Given the description of an element on the screen output the (x, y) to click on. 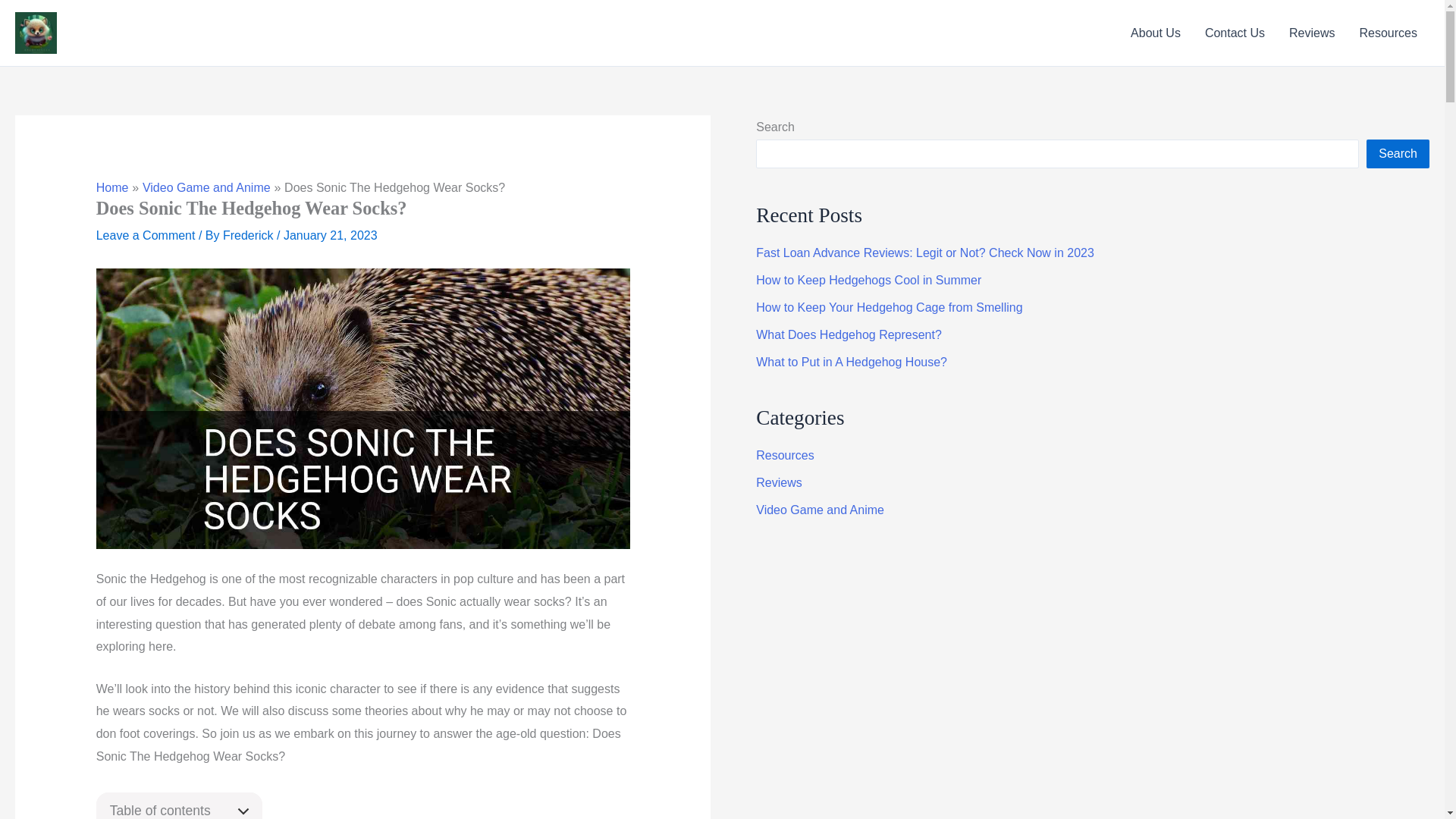
Contact Us (1234, 33)
About Us (1155, 33)
Leave a Comment (145, 235)
Video Game and Anime (206, 187)
Reviews (1311, 33)
Frederick (249, 235)
Home (112, 187)
Resources (1388, 33)
View all posts by Frederick (249, 235)
